Given the description of an element on the screen output the (x, y) to click on. 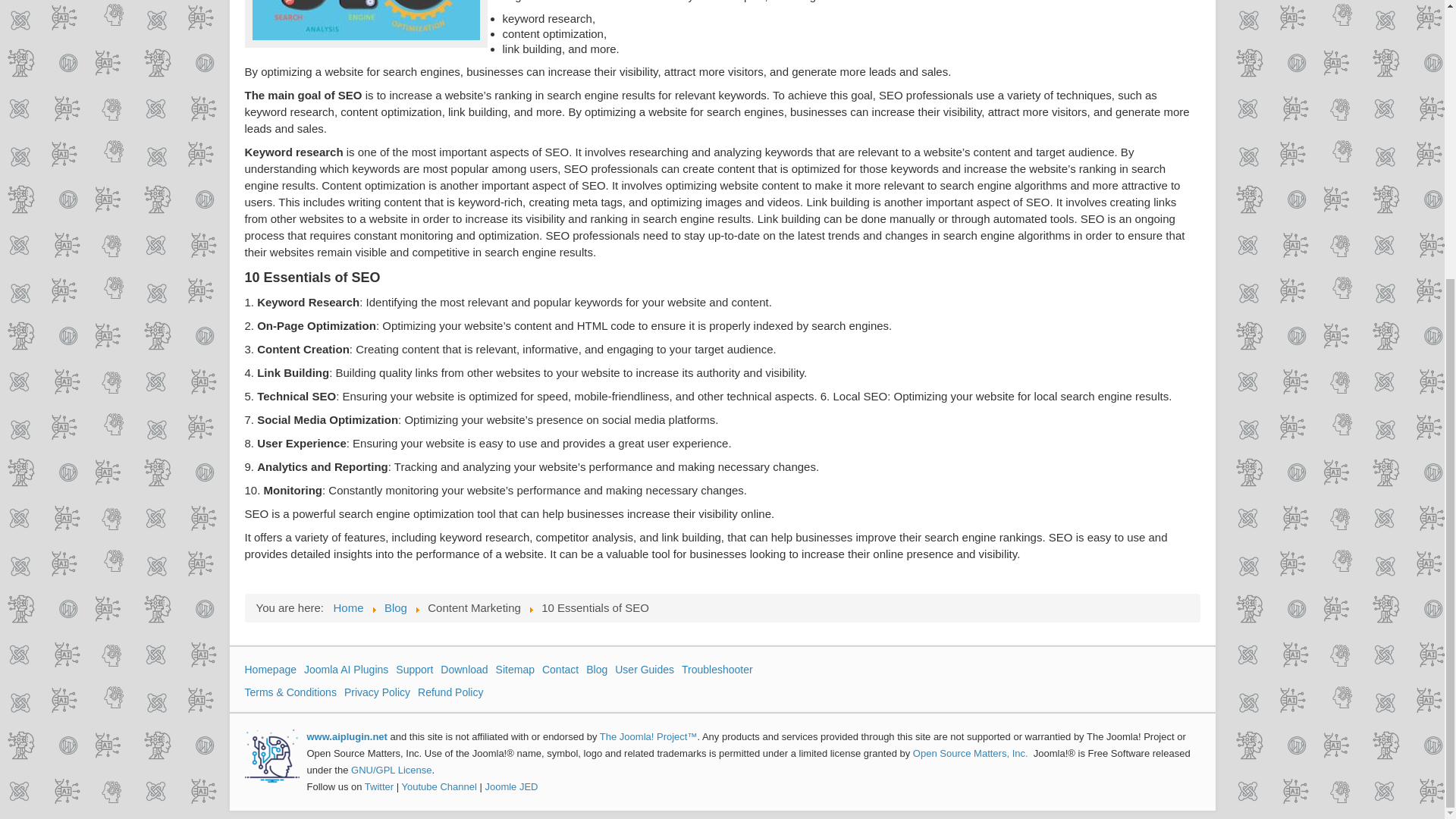
Download (464, 669)
Joomla AI Plugins (346, 669)
Contact (559, 669)
Open Source Matters, Inc. (969, 753)
Home (348, 607)
www.aiplugin.net (347, 736)
Sitemap (515, 669)
Support (414, 669)
Privacy Policy (376, 692)
User Guides (644, 669)
Youtube Channel (439, 786)
Blog (596, 669)
Twitter (379, 786)
www.aiplugin.netm (347, 736)
Homepage (270, 669)
